Given the description of an element on the screen output the (x, y) to click on. 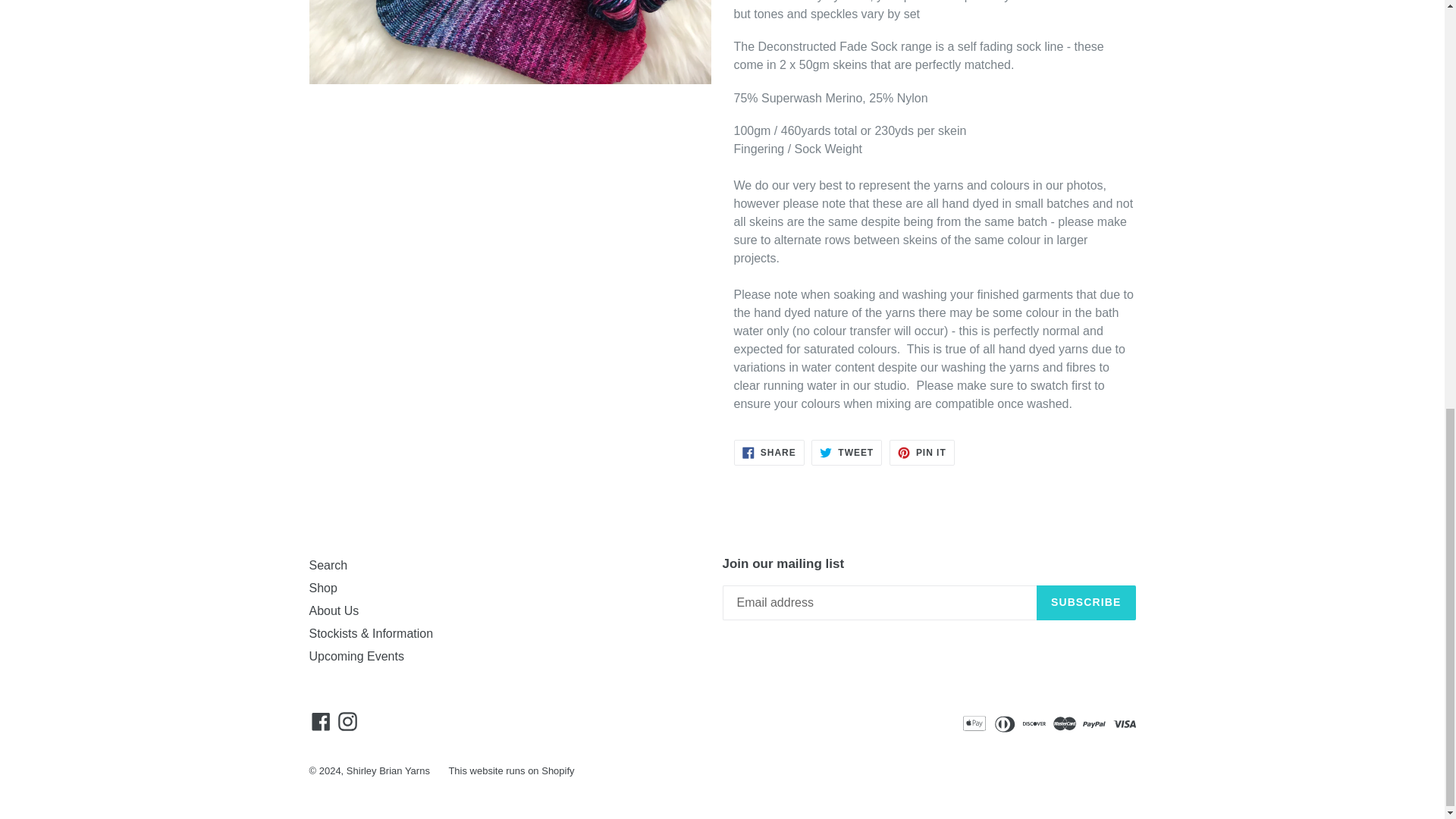
Instagram (347, 721)
SUBSCRIBE (1085, 602)
Shirley Brian Yarns on Facebook (320, 721)
This website runs on Shopify (922, 452)
Upcoming Events (510, 770)
Search (356, 656)
Pin on Pinterest (327, 564)
About Us (922, 452)
